Given the description of an element on the screen output the (x, y) to click on. 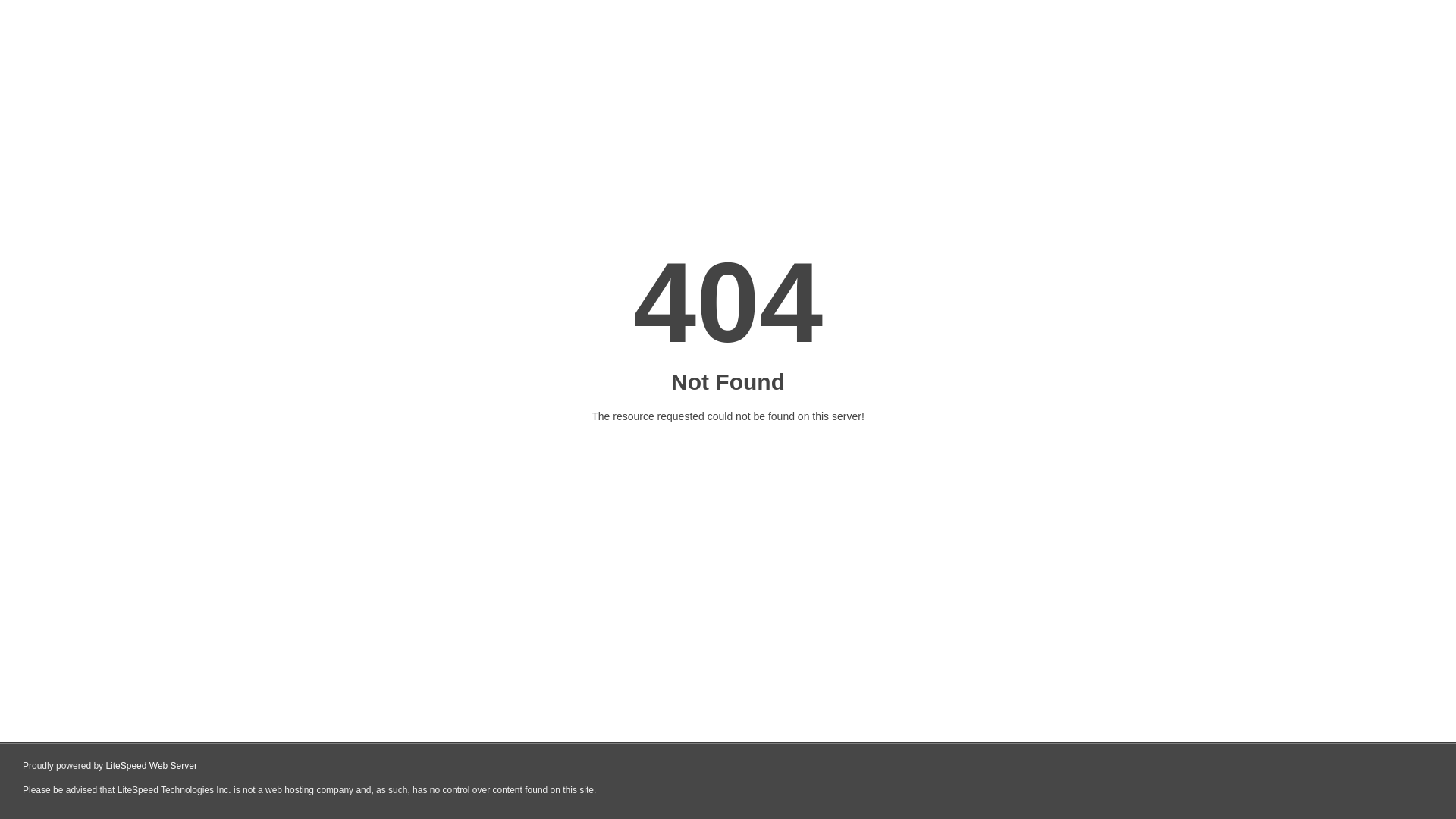
LiteSpeed Web Server Element type: text (151, 765)
